Given the description of an element on the screen output the (x, y) to click on. 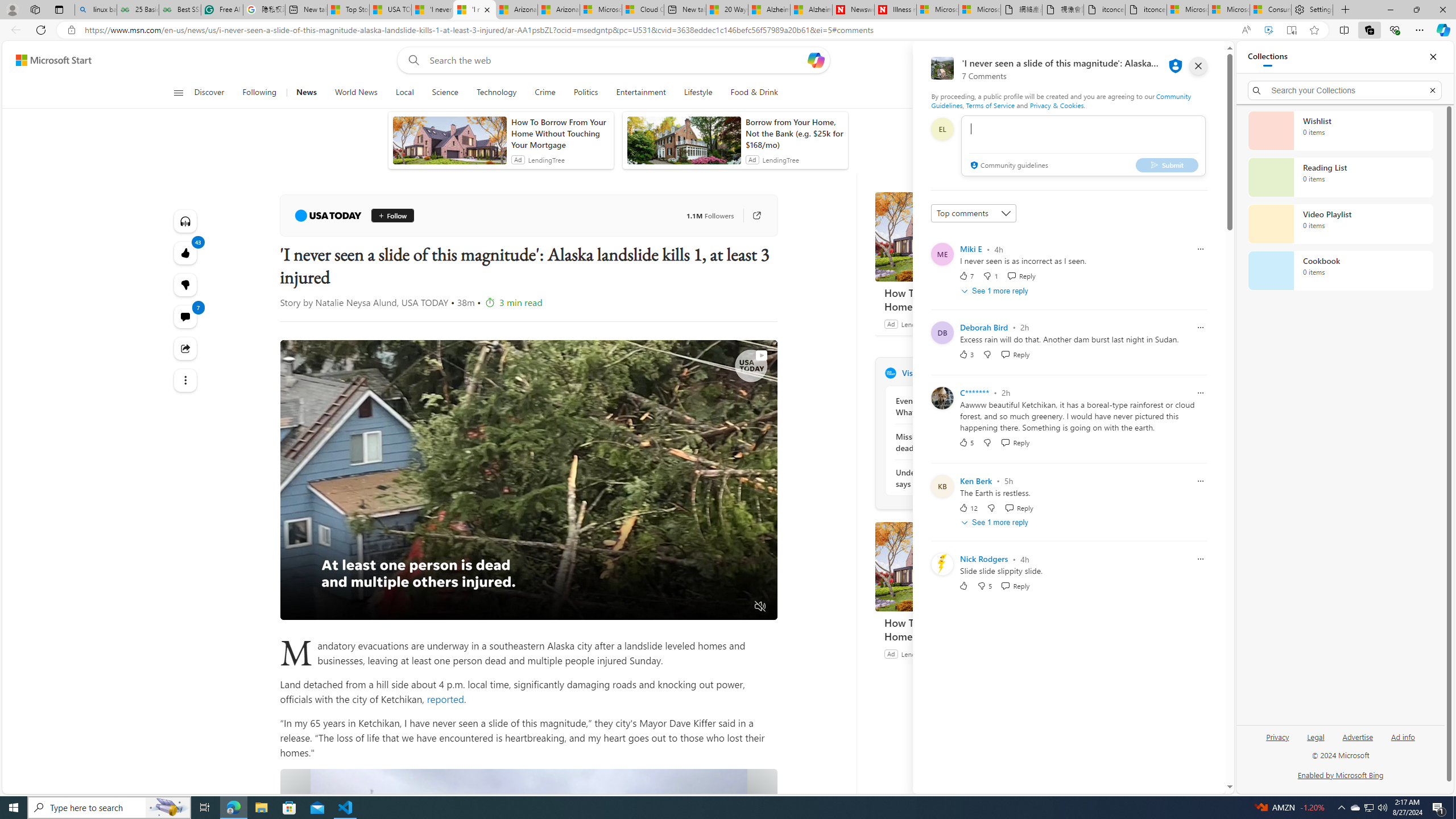
Illness news & latest pictures from Newsweek.com (895, 9)
Miki E (970, 248)
Fullscreen (737, 606)
See 1 more reply (995, 522)
Personalize (1019, 92)
Profile Picture (941, 563)
View on Watch View on Watch (735, 355)
